Given the description of an element on the screen output the (x, y) to click on. 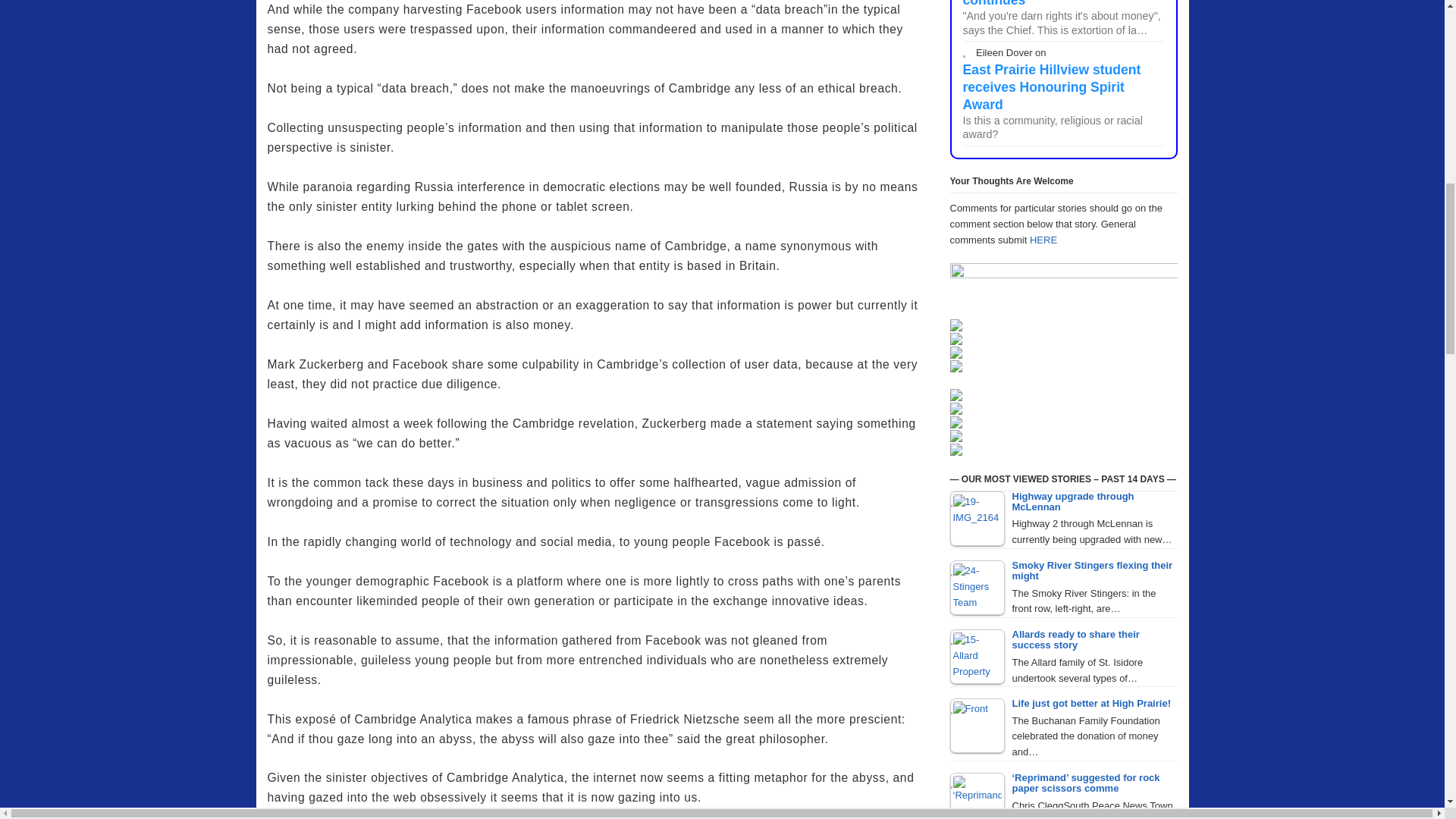
Life just got better at High Prairie! (976, 725)
Highway upgrade through McLennan (976, 518)
Allards ready to share their success story (976, 656)
Smoky River Stingers flexing their might (976, 587)
